Given the description of an element on the screen output the (x, y) to click on. 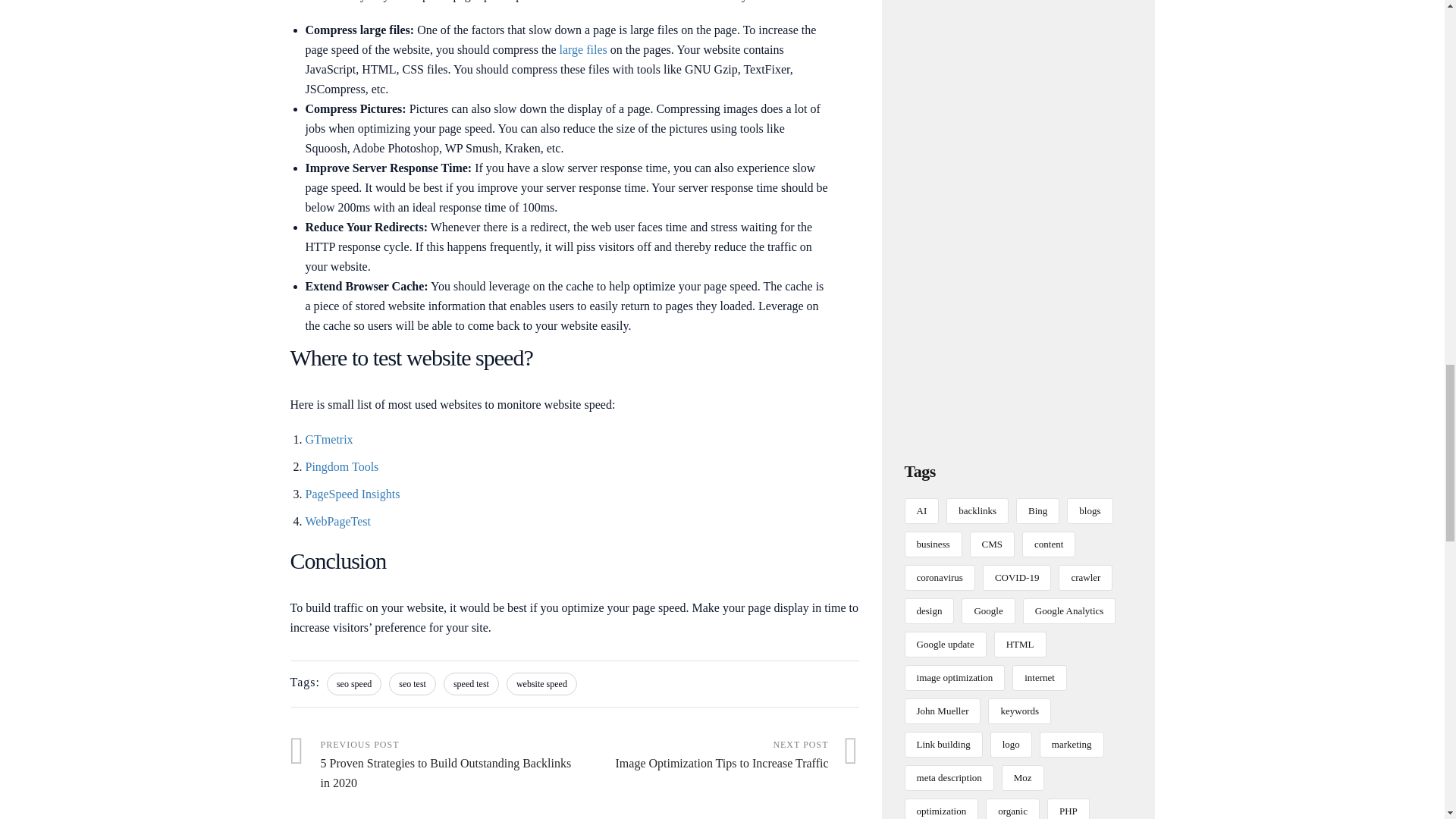
Image Optimization Tips to Increase Traffic (717, 755)
5 Proven Strategies to Build Outstanding Backlinks in 2020 (431, 765)
